Given the description of an element on the screen output the (x, y) to click on. 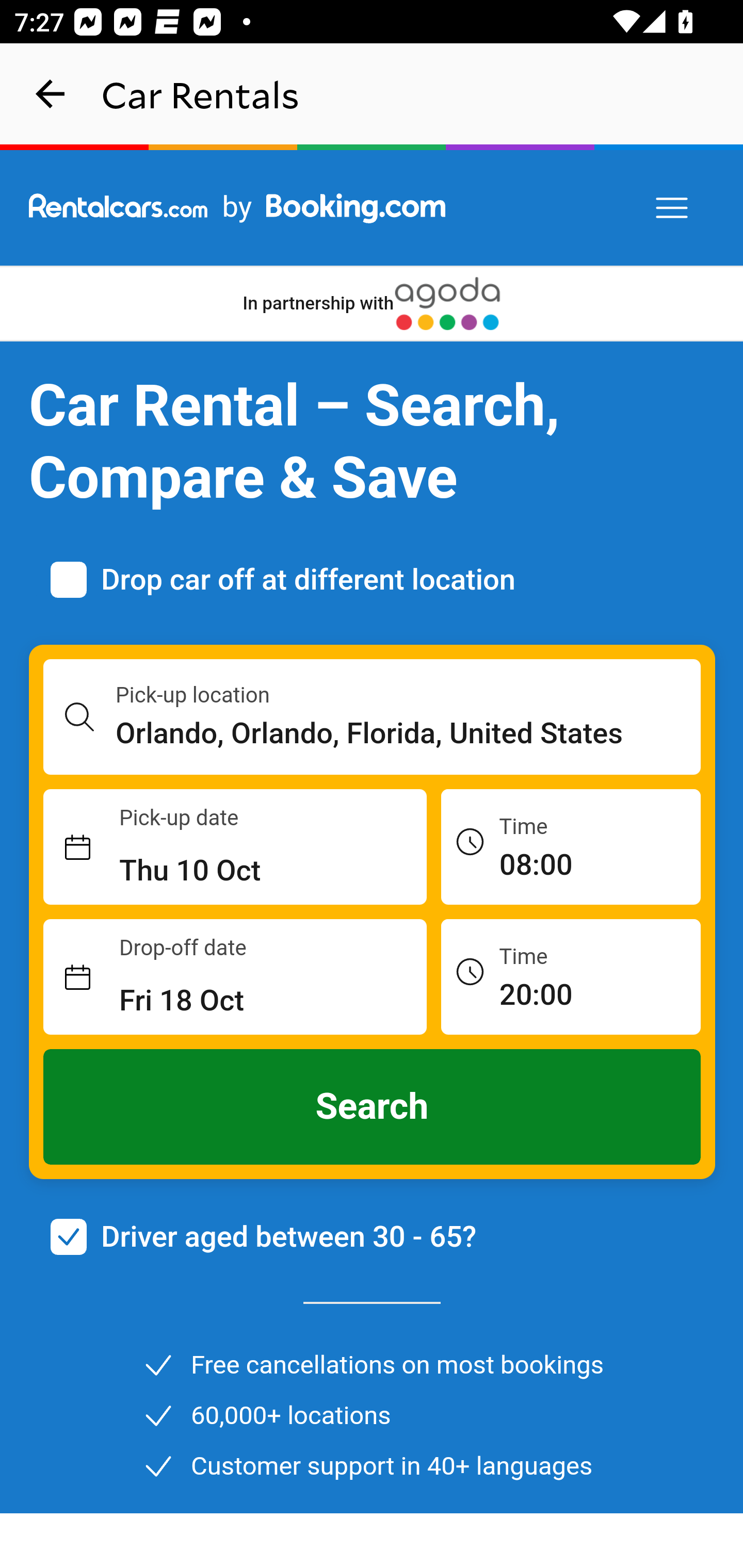
navigation_button (50, 93)
Menu (672, 208)
Orlando, Orlando, Florida, United States (408, 733)
Pick-up date Thu 10 Oct (235, 847)
08:00 (571, 845)
Drop-off date Fri 18 Oct (235, 977)
20:00 (571, 975)
Search (372, 1106)
